Given the description of an element on the screen output the (x, y) to click on. 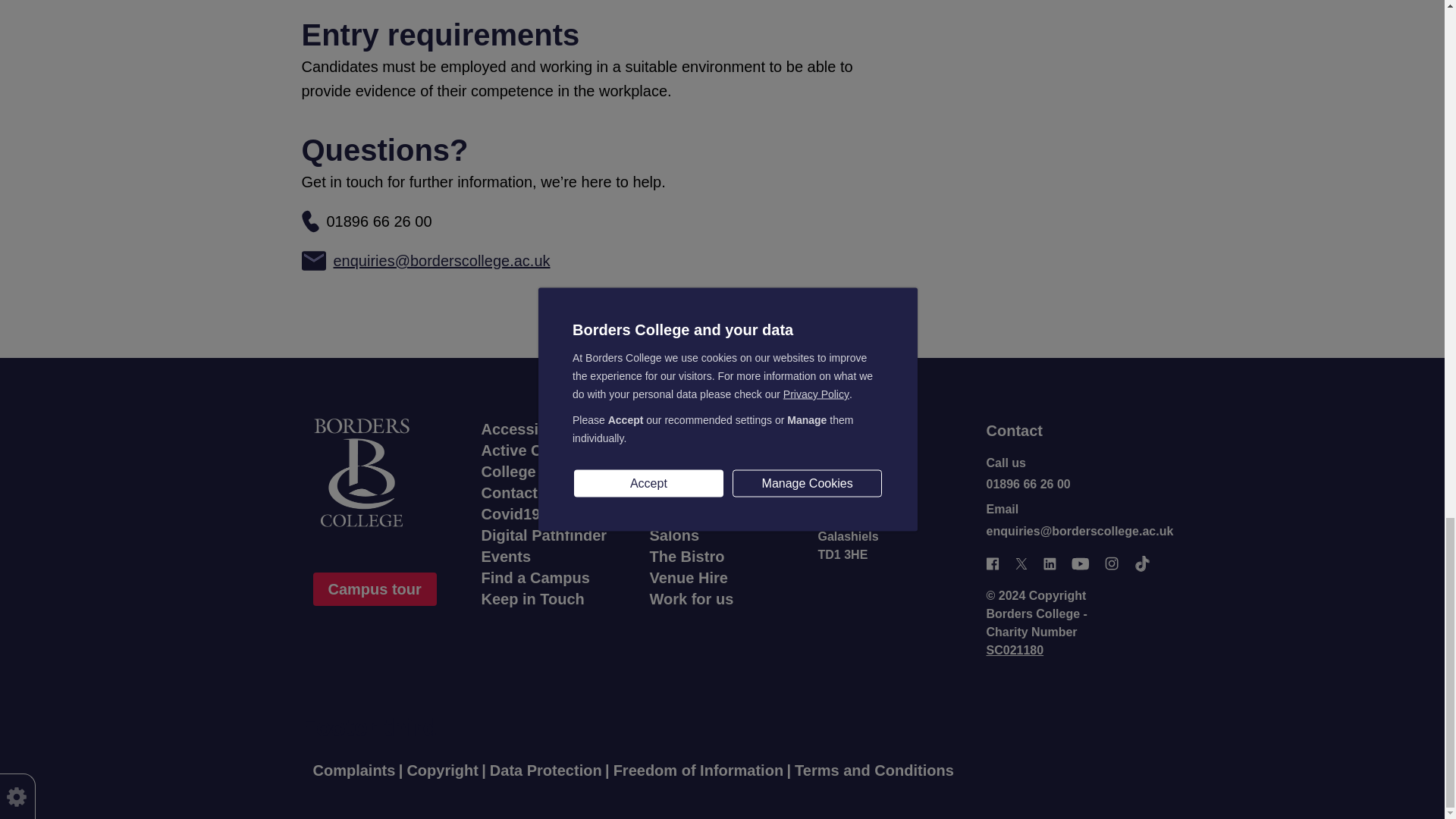
Events calendar (505, 556)
Campus tour (374, 589)
The Restaurant at Borders College (688, 471)
The Bistro at Borders College (686, 556)
keep in touch with Borders College (531, 598)
A link to news (668, 450)
Home (385, 472)
Hair and Beauty Salons at Borders College (673, 535)
Covid19 updates and information (542, 514)
Venue Hire at Borders College (687, 577)
